Given the description of an element on the screen output the (x, y) to click on. 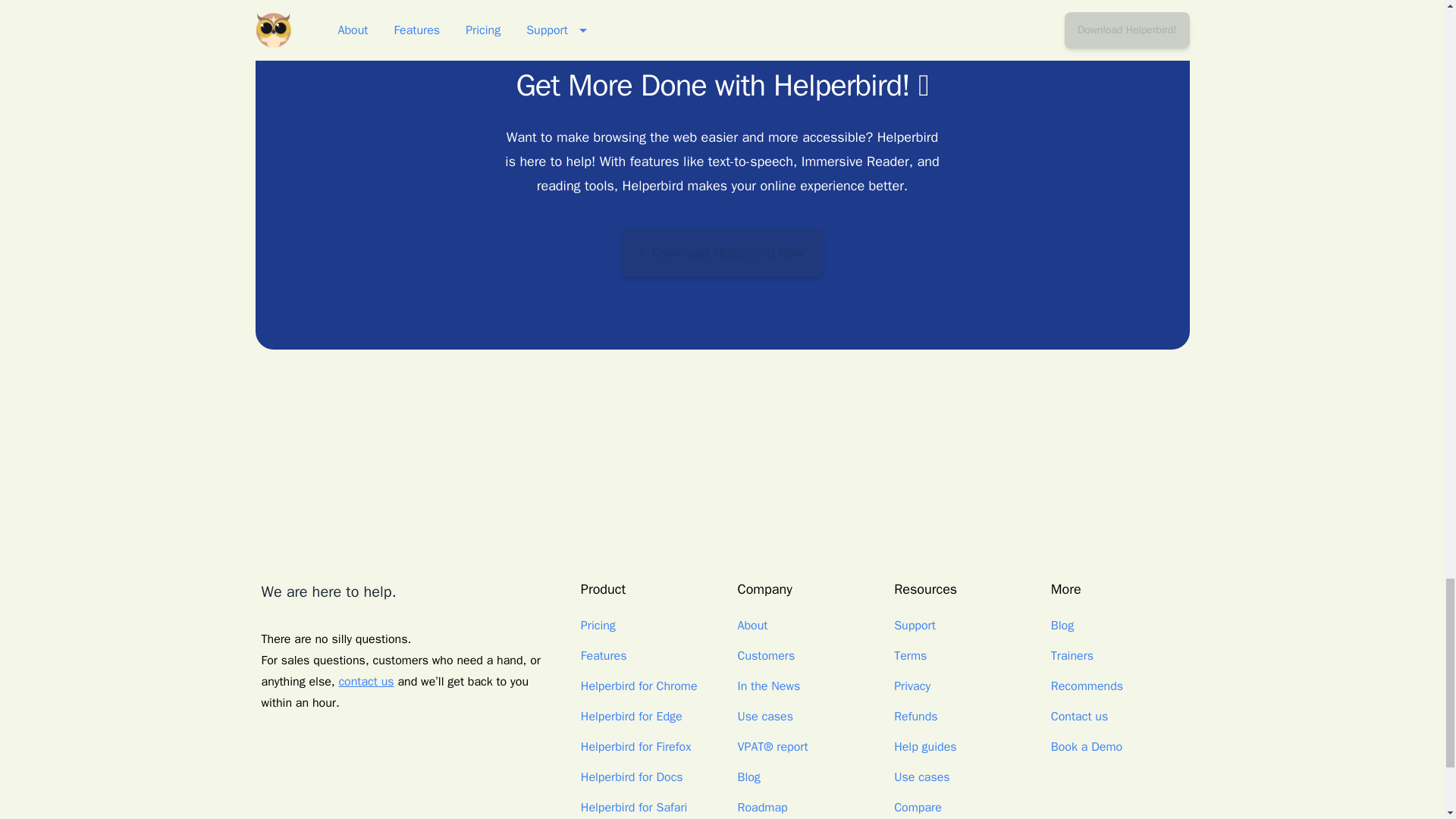
Get in touch with the Helperbird team (365, 681)
Roadmap (761, 807)
Helperbird for Safari (633, 807)
Helperbird for Edge (631, 716)
In the News (767, 685)
Helperbird for Chrome (638, 685)
Features (603, 655)
Terms (909, 655)
Use cases (764, 716)
Pricing (597, 625)
